Given the description of an element on the screen output the (x, y) to click on. 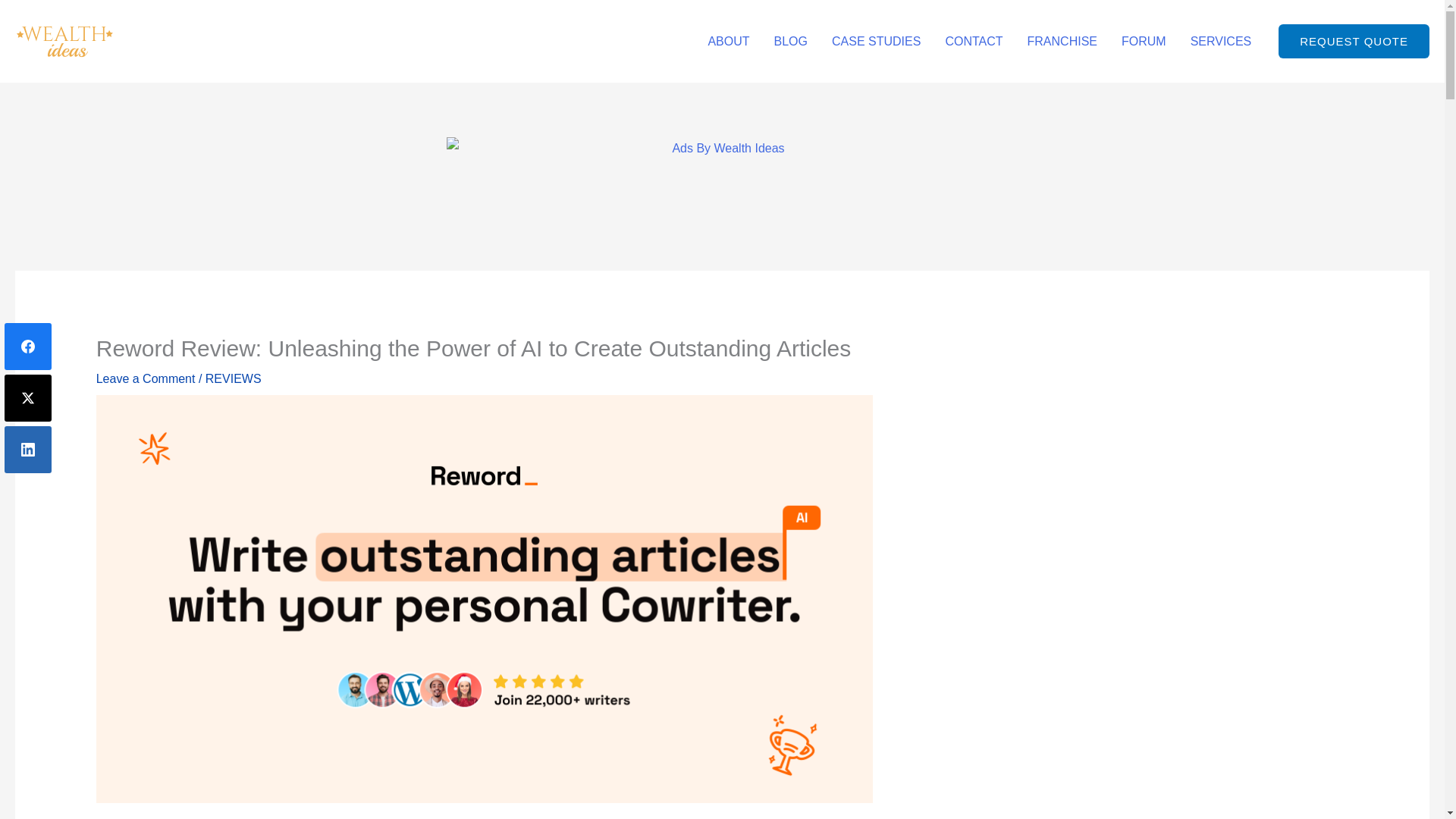
FRANCHISE (1061, 41)
SERVICES (1220, 41)
BLOG (790, 41)
Leave a Comment (145, 378)
CASE STUDIES (876, 41)
REQUEST QUOTE (1353, 41)
CONTACT (973, 41)
FORUM (1143, 41)
REVIEWS (233, 378)
ABOUT (728, 41)
